Given the description of an element on the screen output the (x, y) to click on. 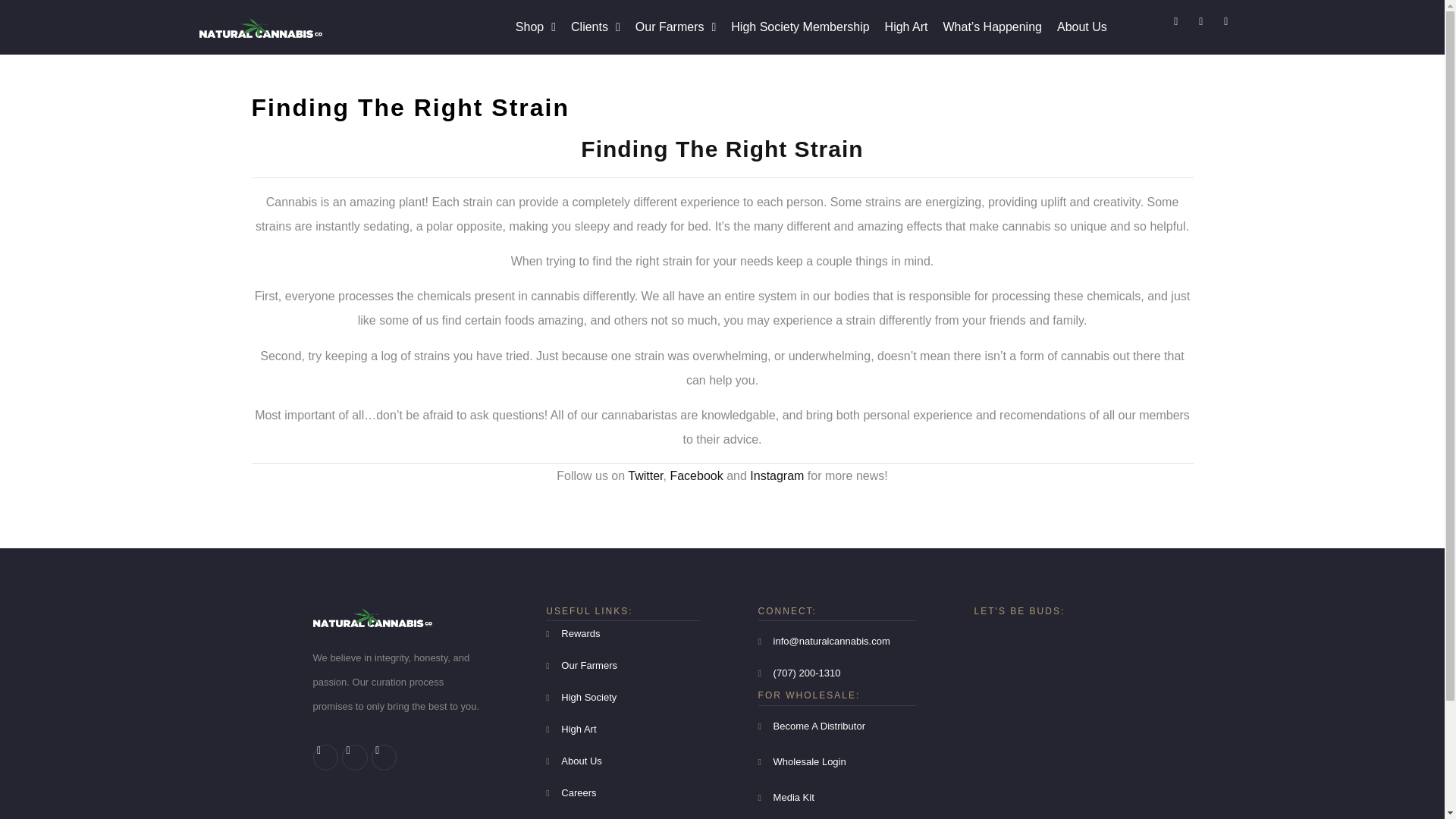
About Us (1082, 26)
Clients (595, 26)
Instagram (776, 475)
Our Farmers (622, 665)
High Society Membership (799, 26)
Twitter (644, 475)
Our Farmers (675, 26)
Shop (535, 26)
High Art (906, 26)
Facebook (695, 475)
Rewards (622, 633)
